Given the description of an element on the screen output the (x, y) to click on. 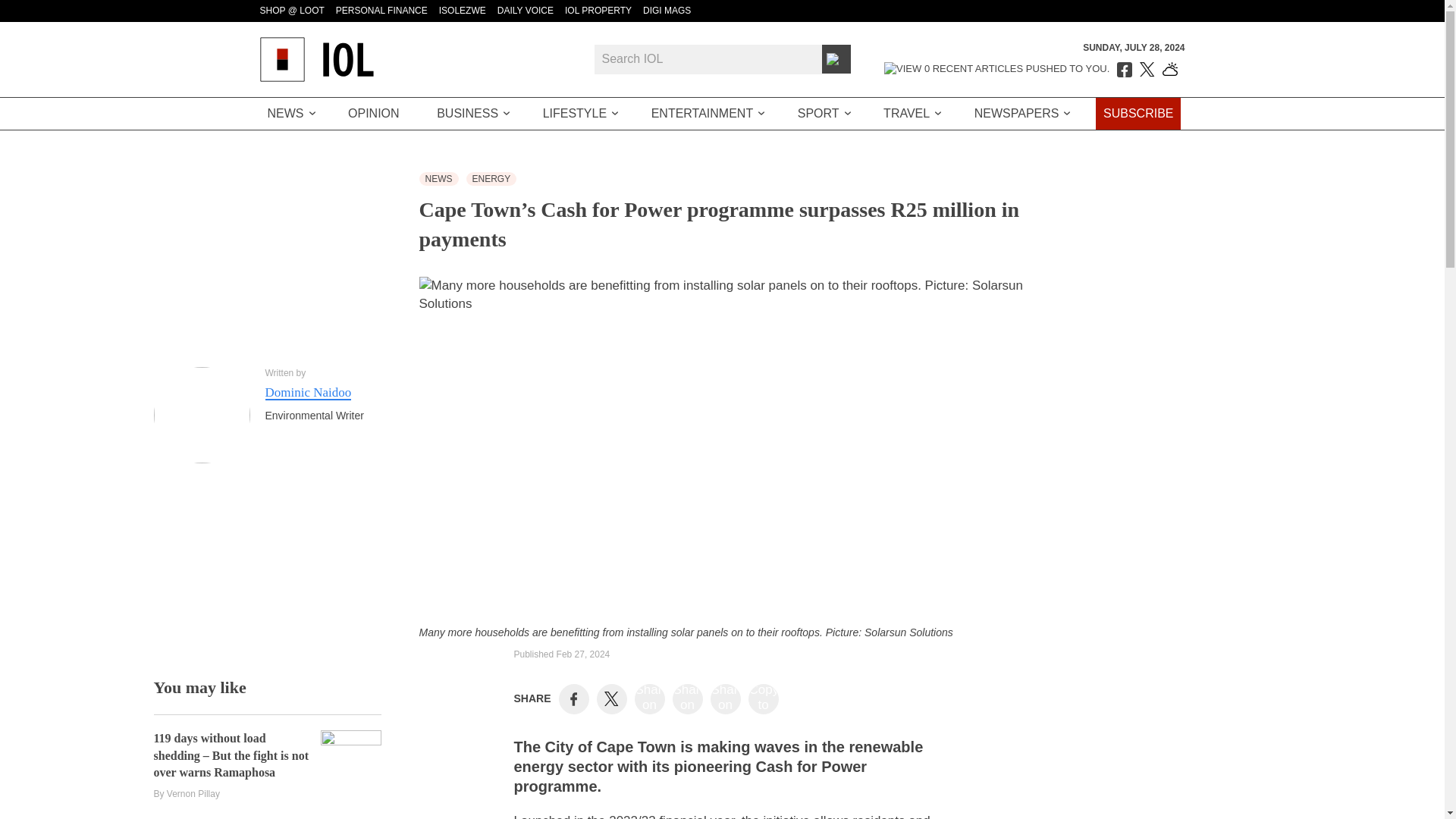
Share on Telegram (686, 698)
Share on WhatsApp (725, 698)
Share on LinkedIn (648, 698)
Copy to Clipboard (763, 698)
Share on Facebook (573, 698)
Follow us on Twitter (1147, 69)
Like us on Facebook (1124, 69)
Share on Twitter (611, 698)
